Given the description of an element on the screen output the (x, y) to click on. 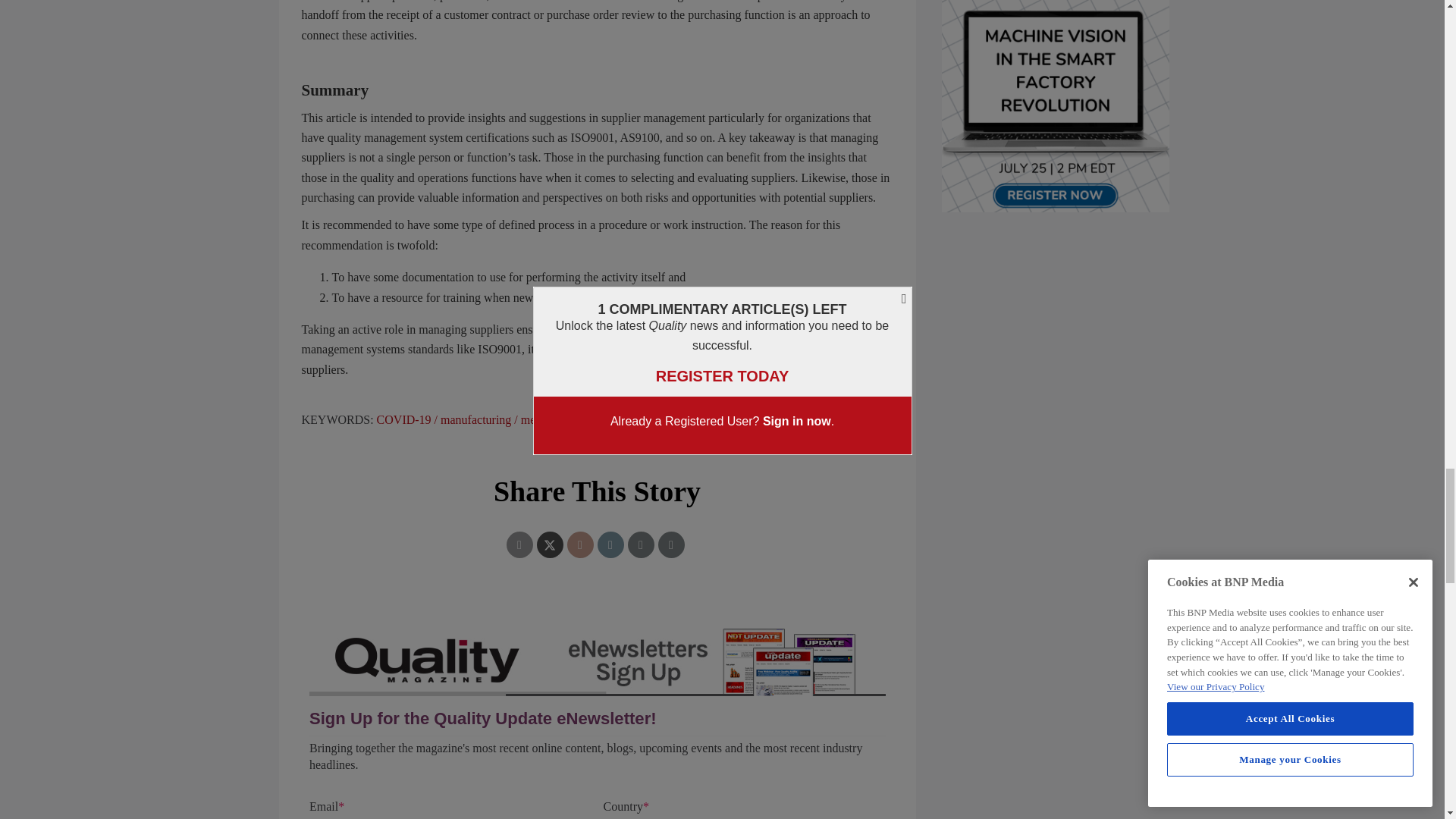
Interaction questions (597, 715)
